Given the description of an element on the screen output the (x, y) to click on. 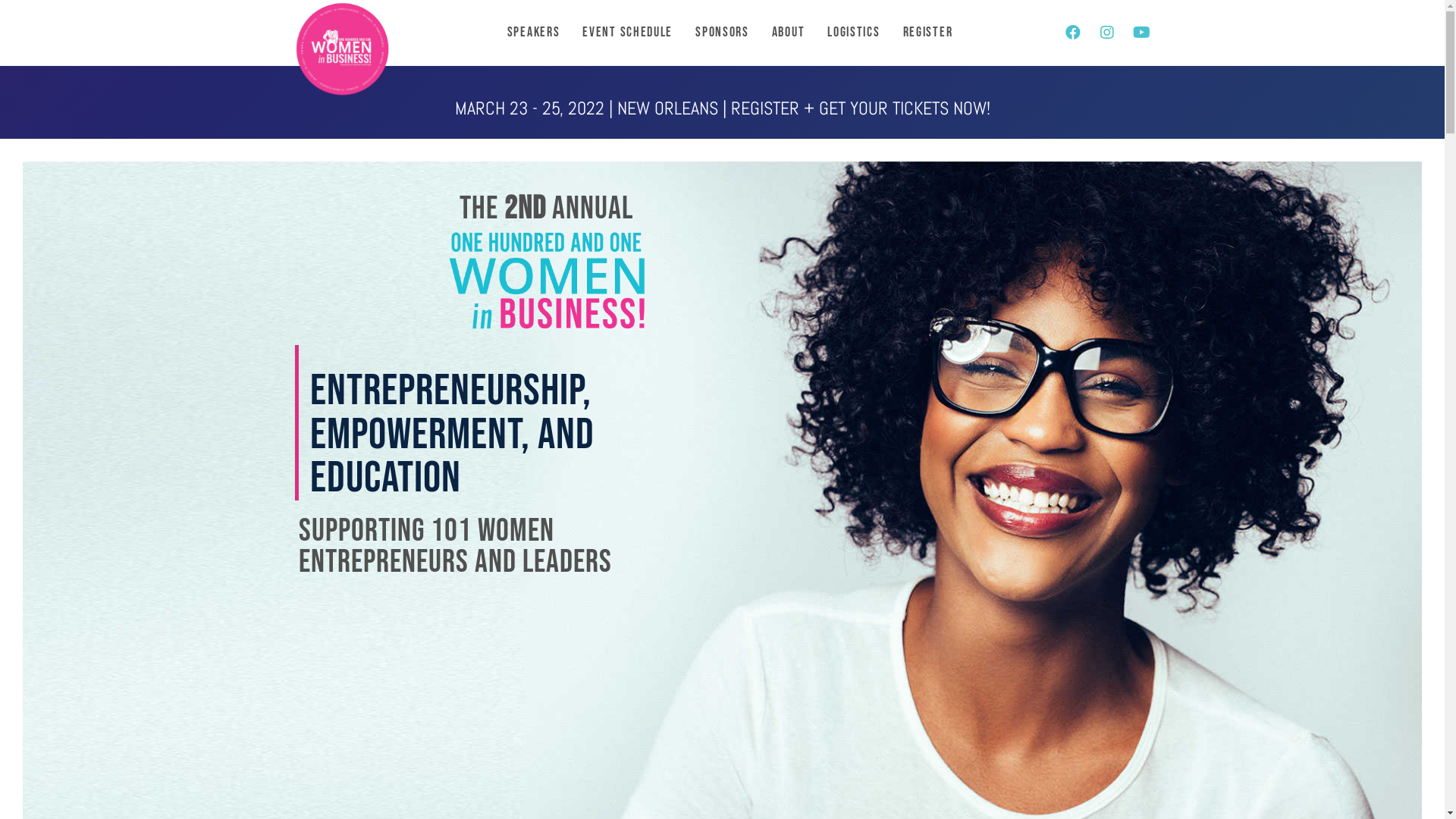
Event Schedule Element type: text (627, 32)
Sponsors Element type: text (722, 32)
Speakers Element type: text (533, 32)
Logistics Element type: text (853, 32)
About Element type: text (788, 32)
Register Element type: text (927, 32)
